Given the description of an element on the screen output the (x, y) to click on. 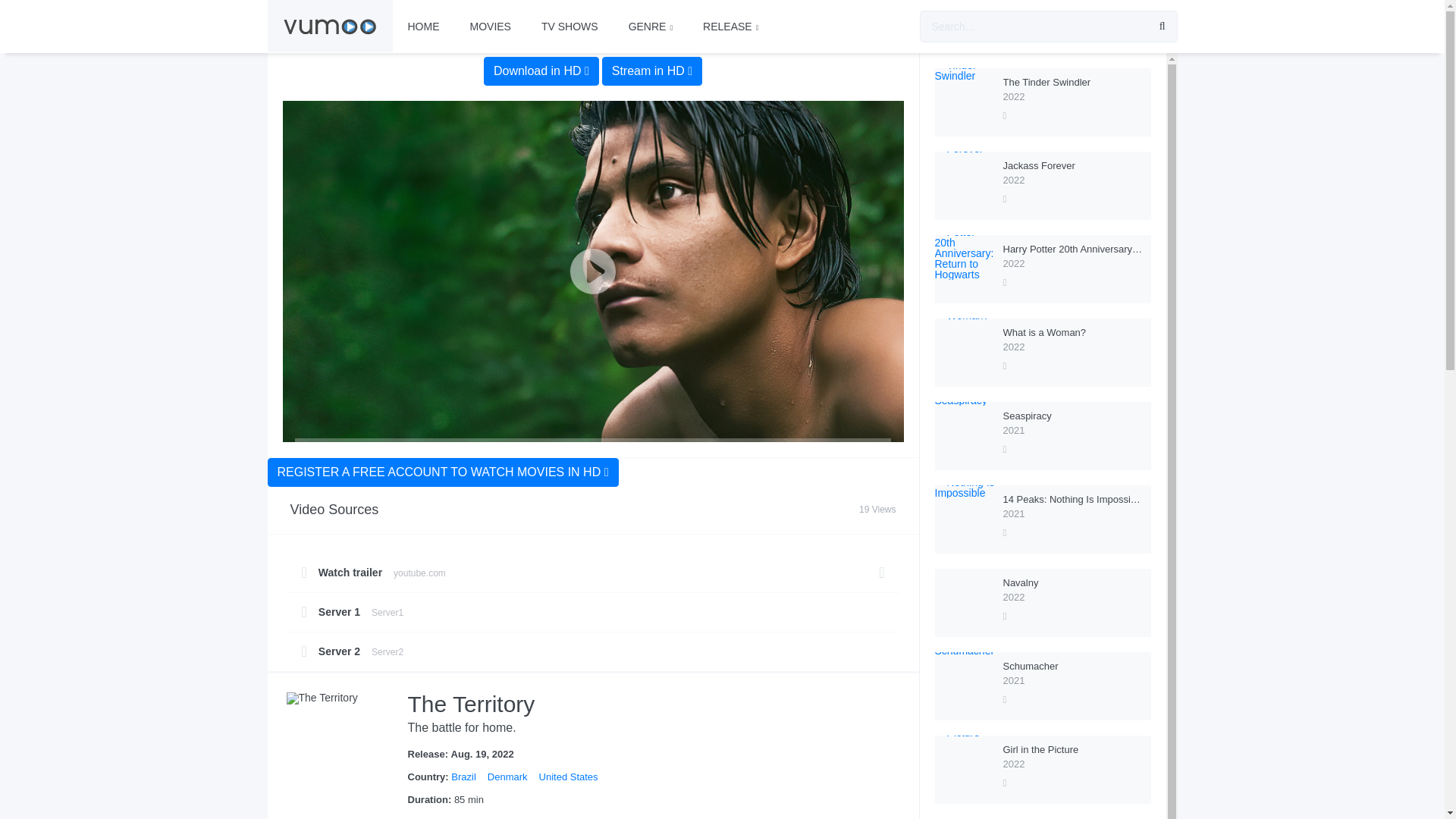
GENRE (649, 26)
TV SHOWS (568, 26)
HOME (592, 602)
MOVIES (423, 26)
RELEASE (489, 26)
